Given the description of an element on the screen output the (x, y) to click on. 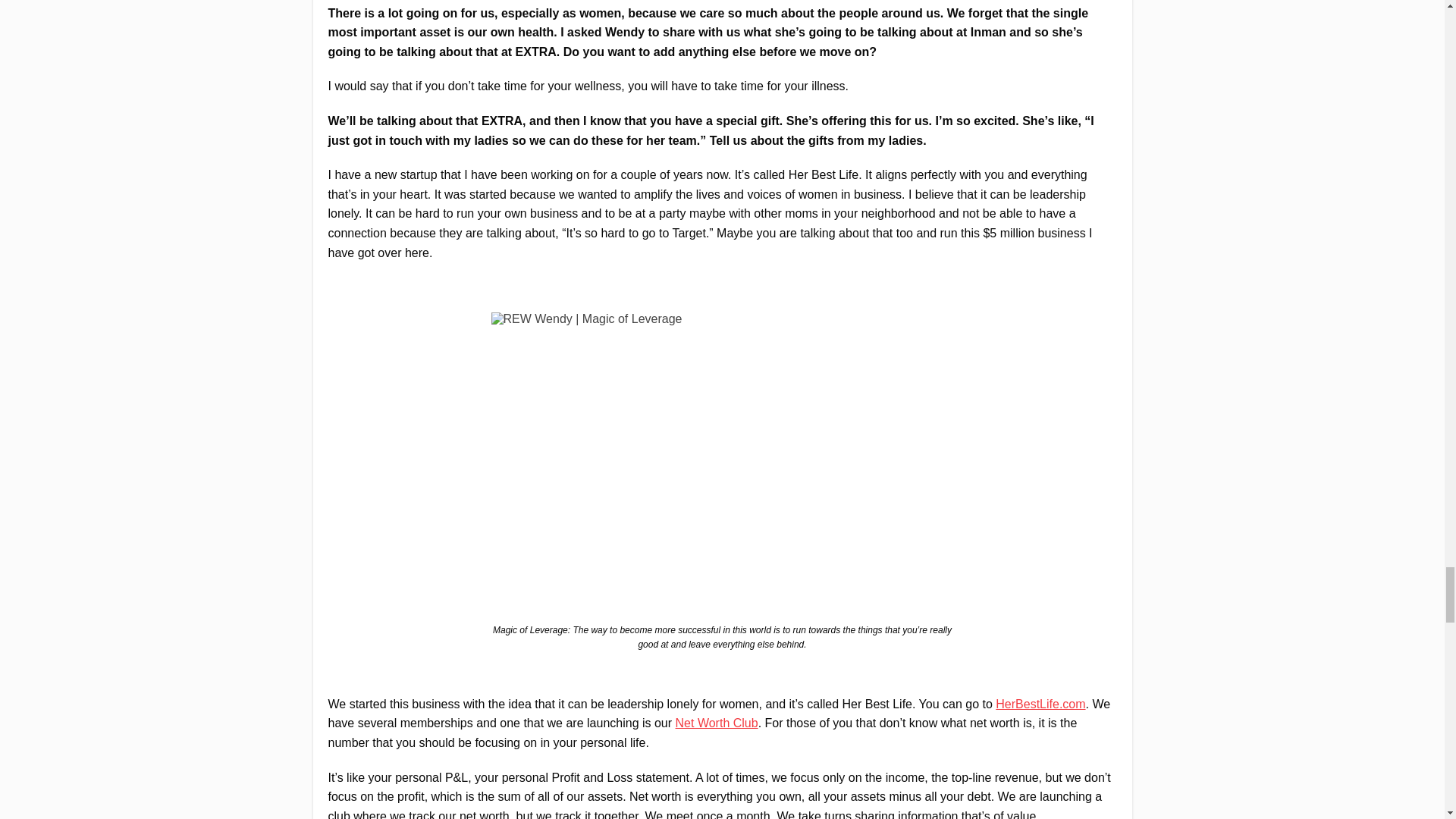
HerBestLife.com (1039, 703)
Net Worth Club (716, 722)
